Given the description of an element on the screen output the (x, y) to click on. 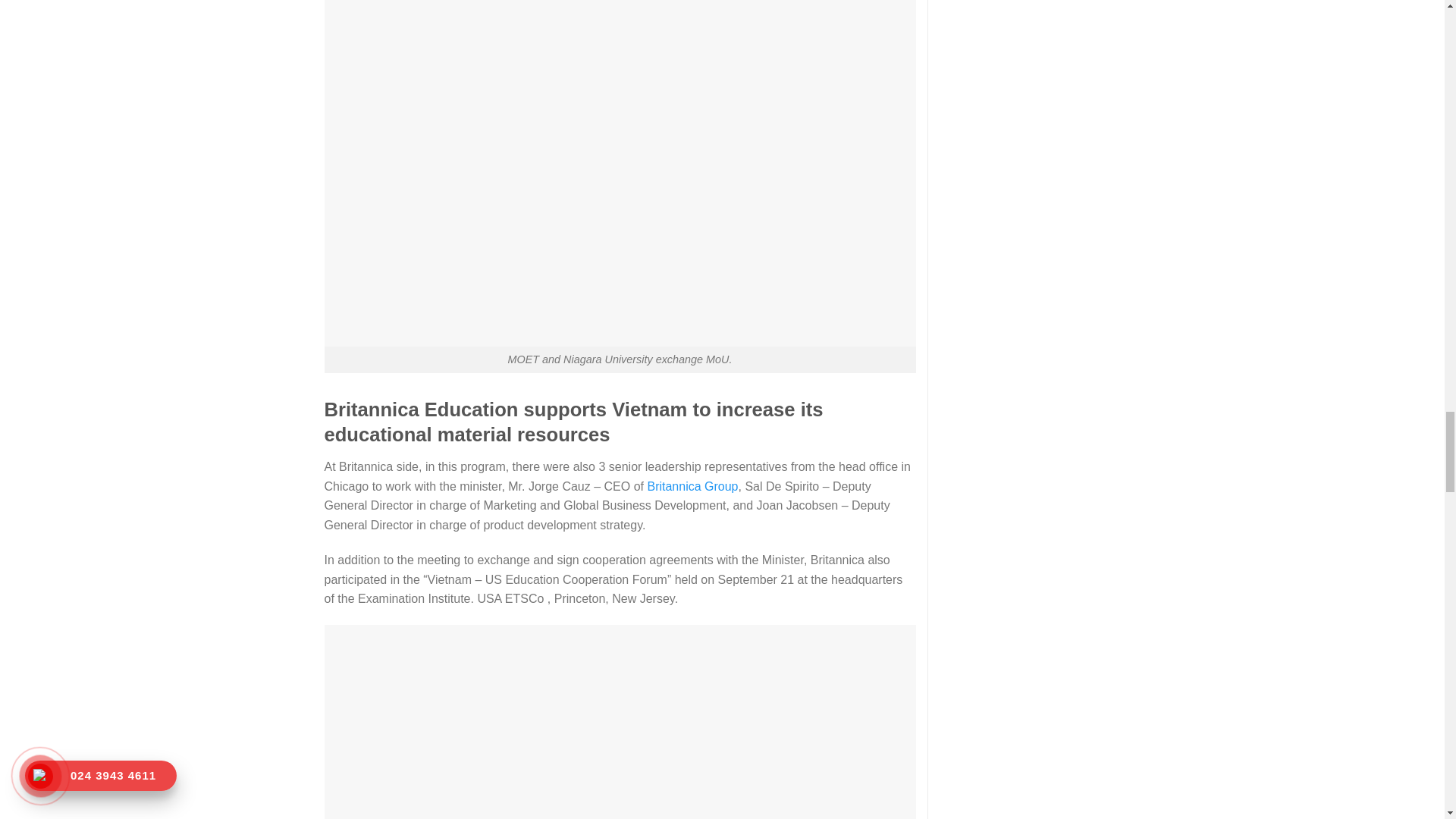
Britannica Group (692, 486)
